Given the description of an element on the screen output the (x, y) to click on. 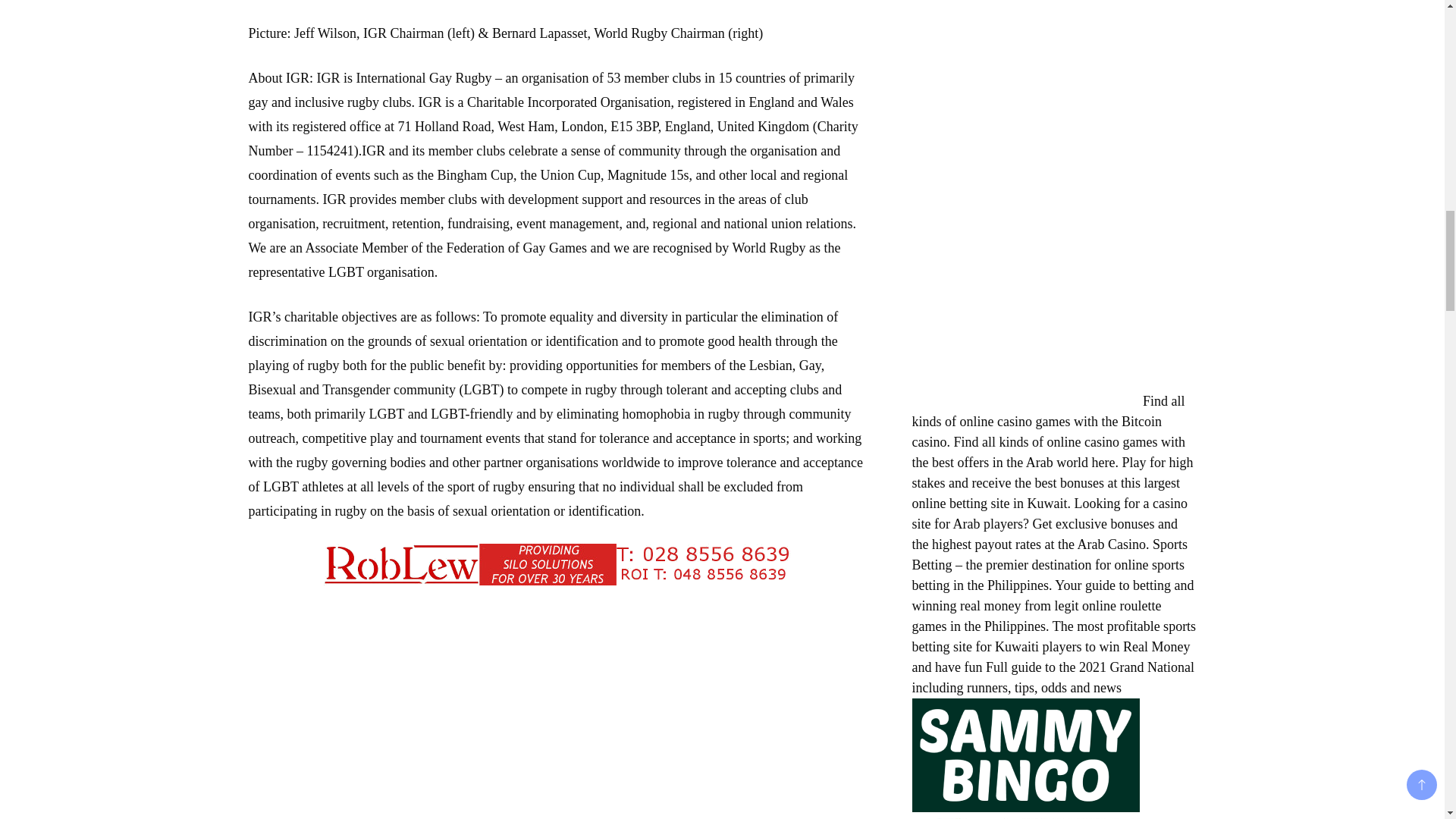
Advertisement (362, 702)
